Given the description of an element on the screen output the (x, y) to click on. 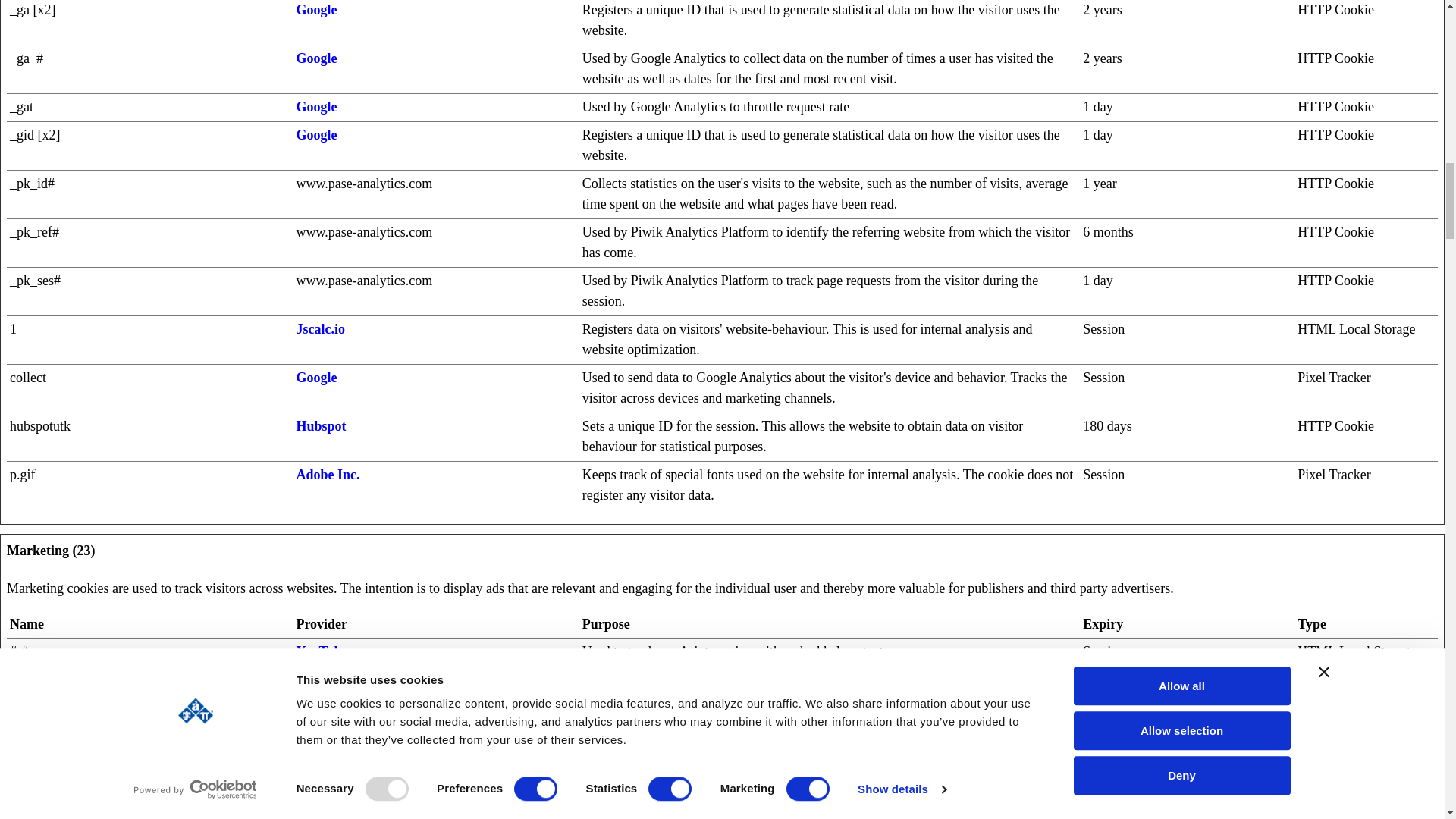
Hubspot (320, 426)
Google (315, 58)
Google (315, 134)
YouTube (321, 651)
Hubspot (320, 679)
Hubspot (320, 748)
Google (315, 9)
Google (315, 377)
Google (315, 106)
Jscalc.io (320, 328)
Adobe Inc. (327, 474)
Google (315, 796)
